Given the description of an element on the screen output the (x, y) to click on. 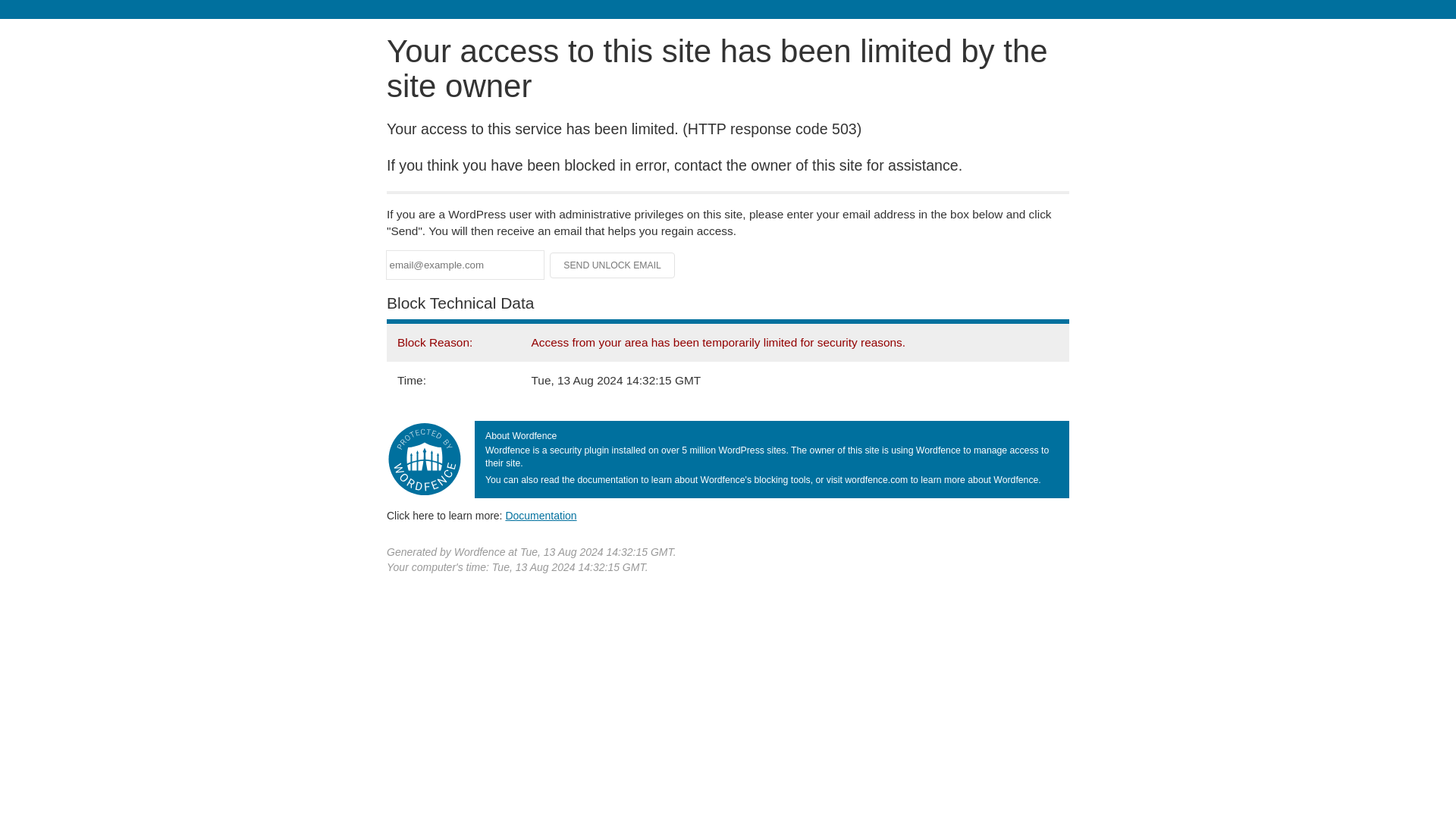
Documentation (540, 515)
Send Unlock Email (612, 265)
Send Unlock Email (612, 265)
